Given the description of an element on the screen output the (x, y) to click on. 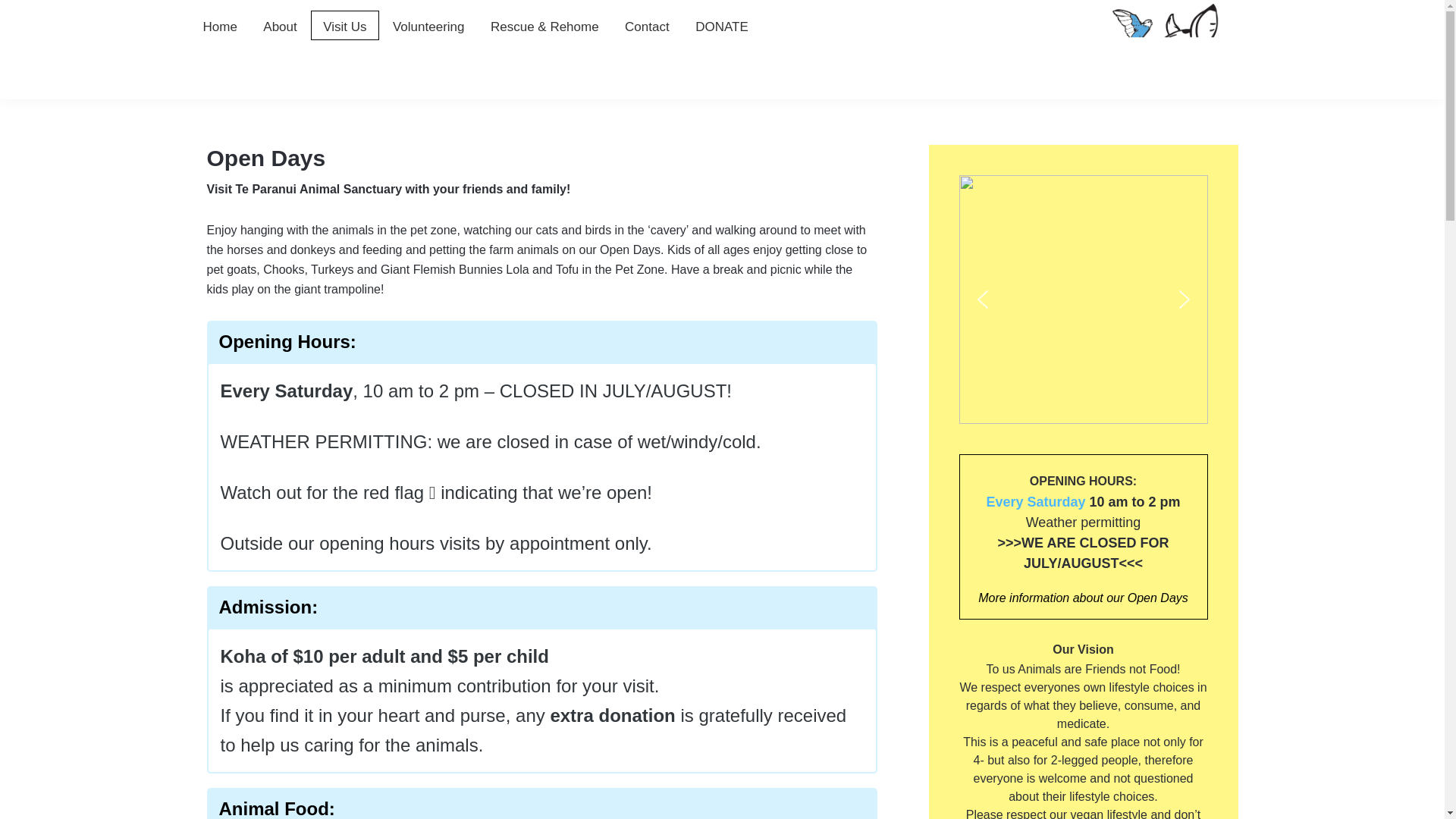
DONATE (722, 26)
OPENING HOURS: (1083, 481)
Contact (646, 26)
Home (218, 26)
Volunteering (428, 26)
Visit Us (344, 25)
Our Vision (1082, 649)
About (279, 26)
More information about our Open Days (1083, 597)
